Given the description of an element on the screen output the (x, y) to click on. 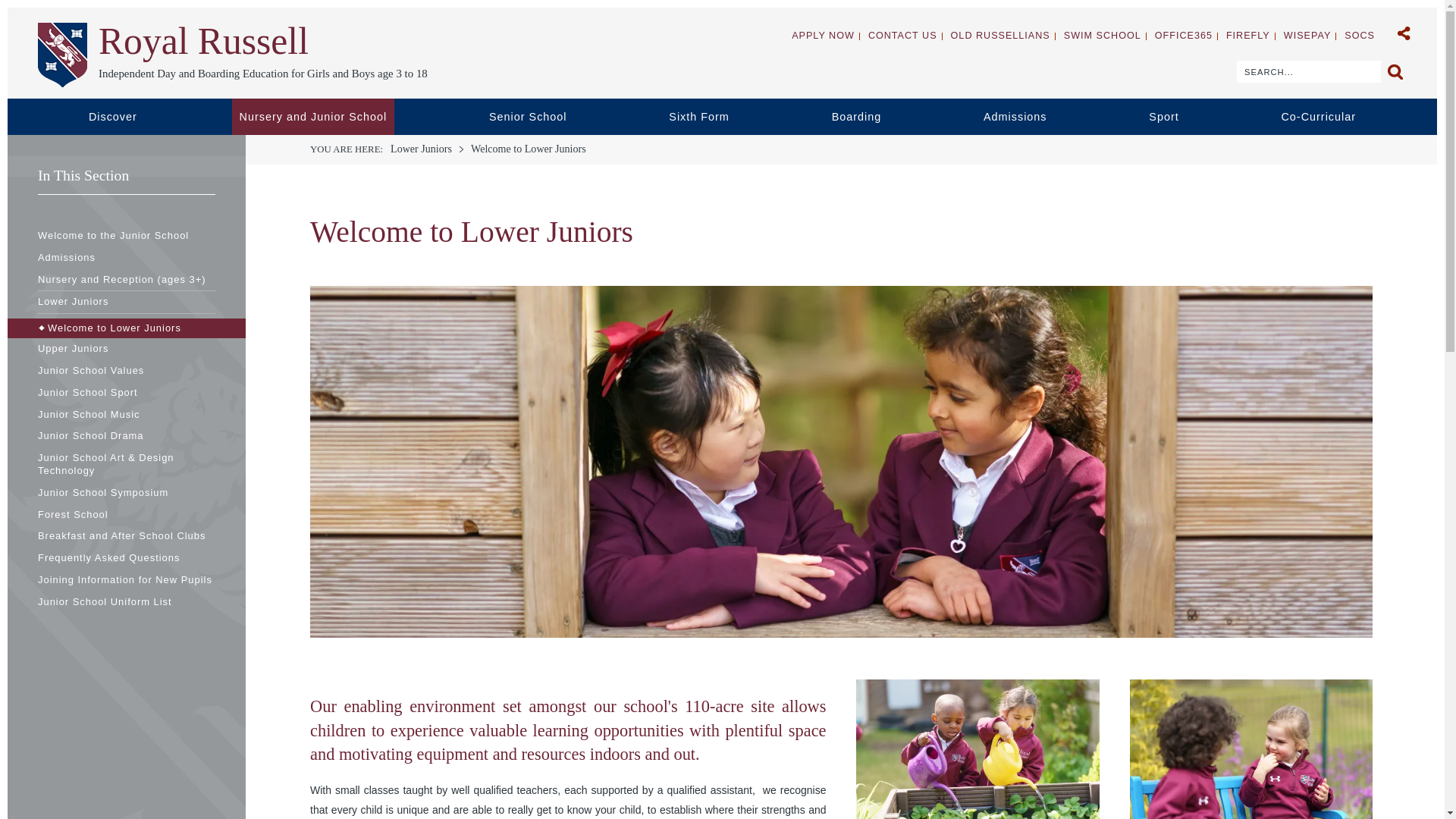
SWIM SCHOOL (1102, 35)
Share (1403, 32)
Share (1403, 32)
Nursery and Junior School (512, 116)
Co-Curricular (1367, 116)
CONTACT US (902, 35)
Boarding (976, 116)
OLD RUSSELLIANS (999, 35)
Search (1393, 70)
Senior School (708, 116)
Sport (1237, 116)
APPLY NOW (823, 35)
Admissions (1100, 116)
Discover (350, 116)
